Given the description of an element on the screen output the (x, y) to click on. 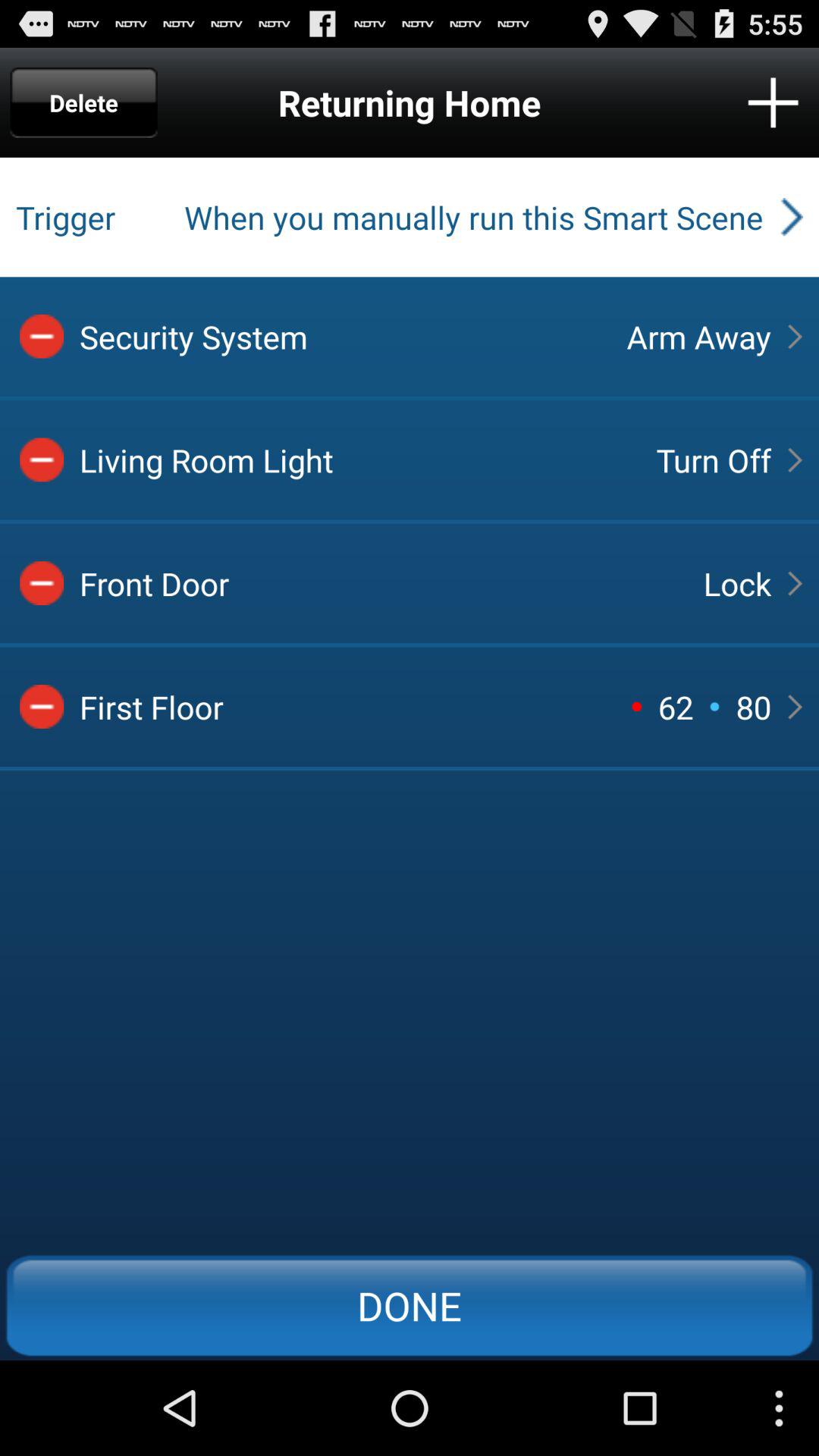
remove trigger (41, 583)
